Given the description of an element on the screen output the (x, y) to click on. 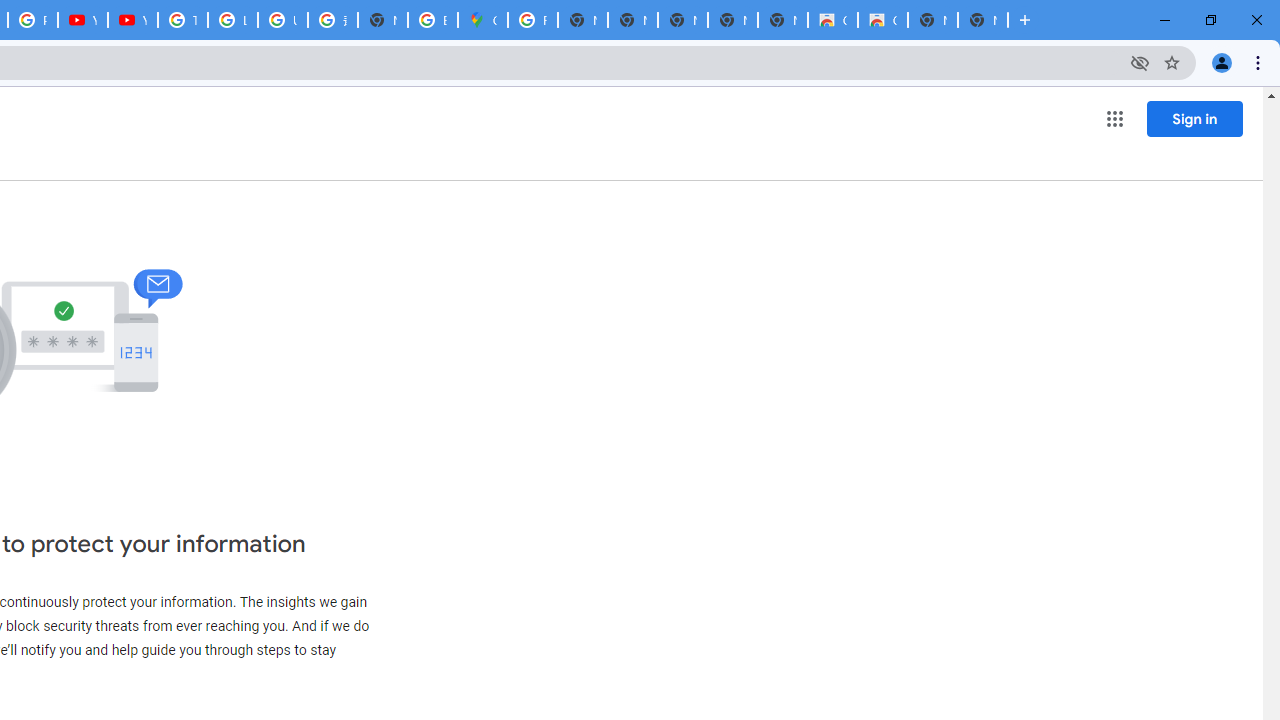
Tips & tricks for Chrome - Google Chrome Help (182, 20)
Classic Blue - Chrome Web Store (882, 20)
Explore new street-level details - Google Maps Help (433, 20)
Google Maps (483, 20)
